Given the description of an element on the screen output the (x, y) to click on. 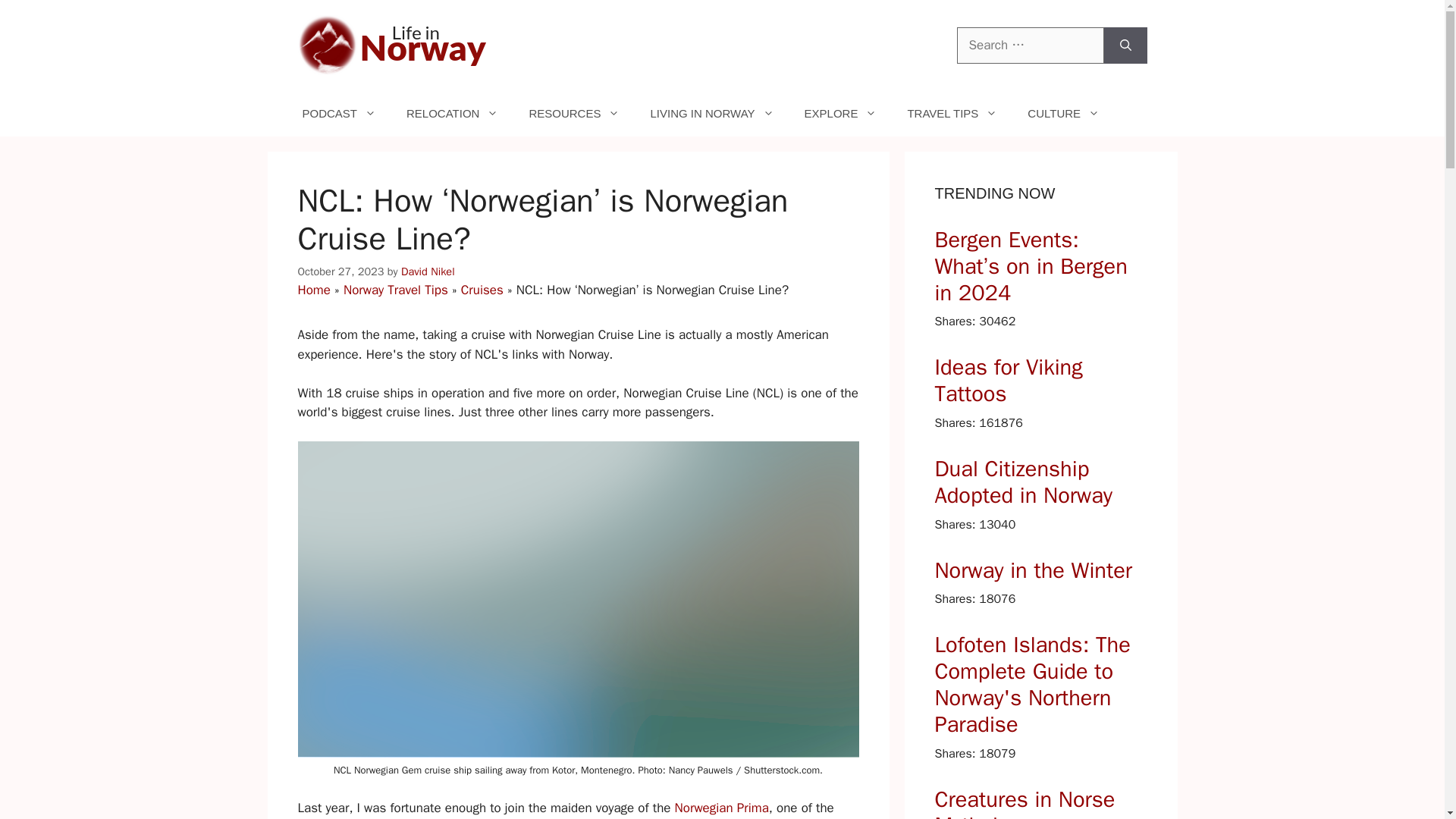
LIVING IN NORWAY (711, 113)
PODCAST (338, 113)
Ideas for Viking Tattoos (1040, 380)
RESOURCES (573, 113)
EXPLORE (840, 113)
Search for: (1029, 45)
View all posts by David Nikel (427, 271)
Dual Citizenship Adopted in Norway (1040, 482)
RELOCATION (452, 113)
